Given the description of an element on the screen output the (x, y) to click on. 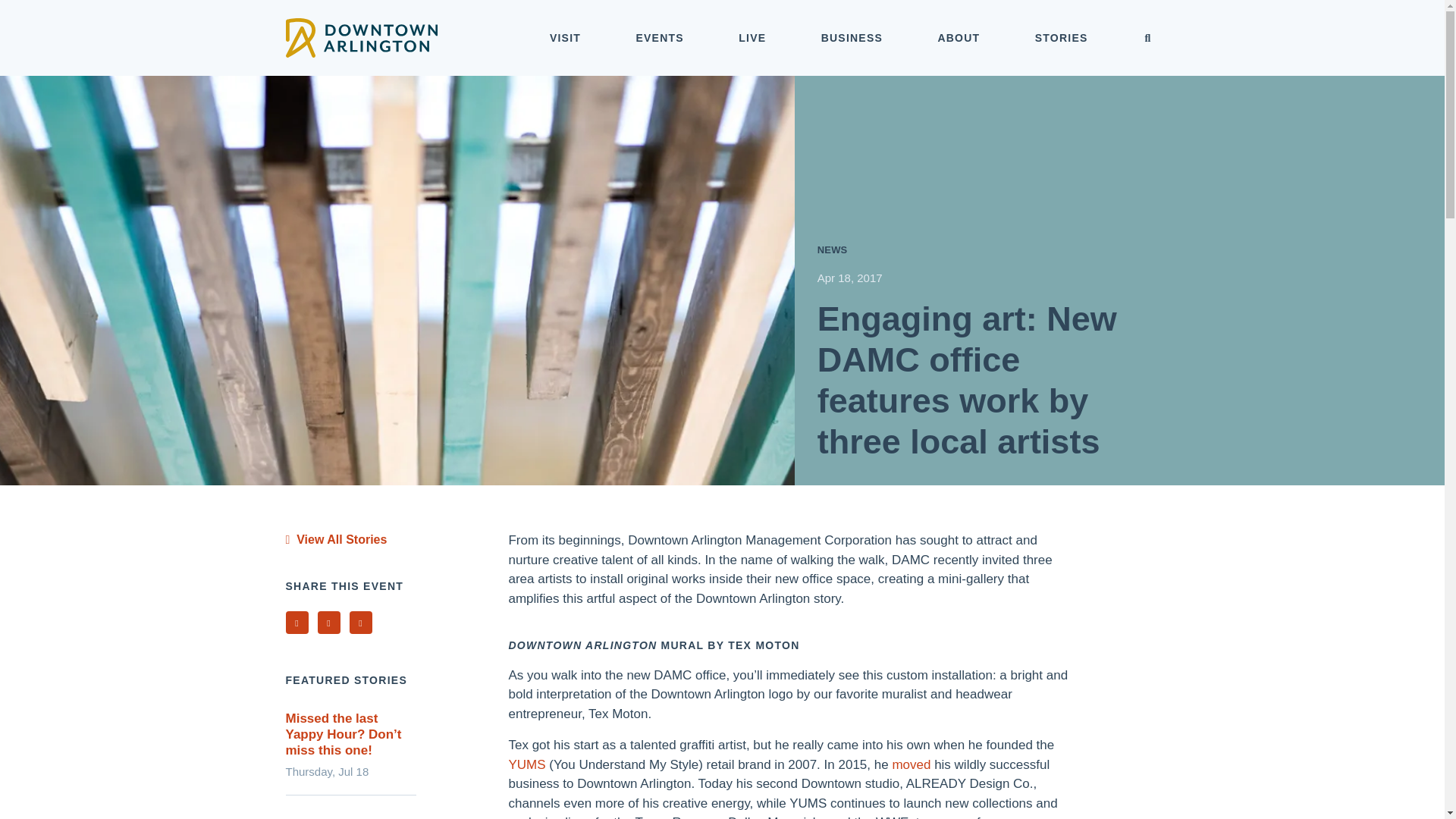
LIVE (752, 38)
EVENTS (659, 38)
submit (1147, 38)
VISIT (565, 38)
ABOUT (958, 38)
BUSINESS (851, 38)
